Given the description of an element on the screen output the (x, y) to click on. 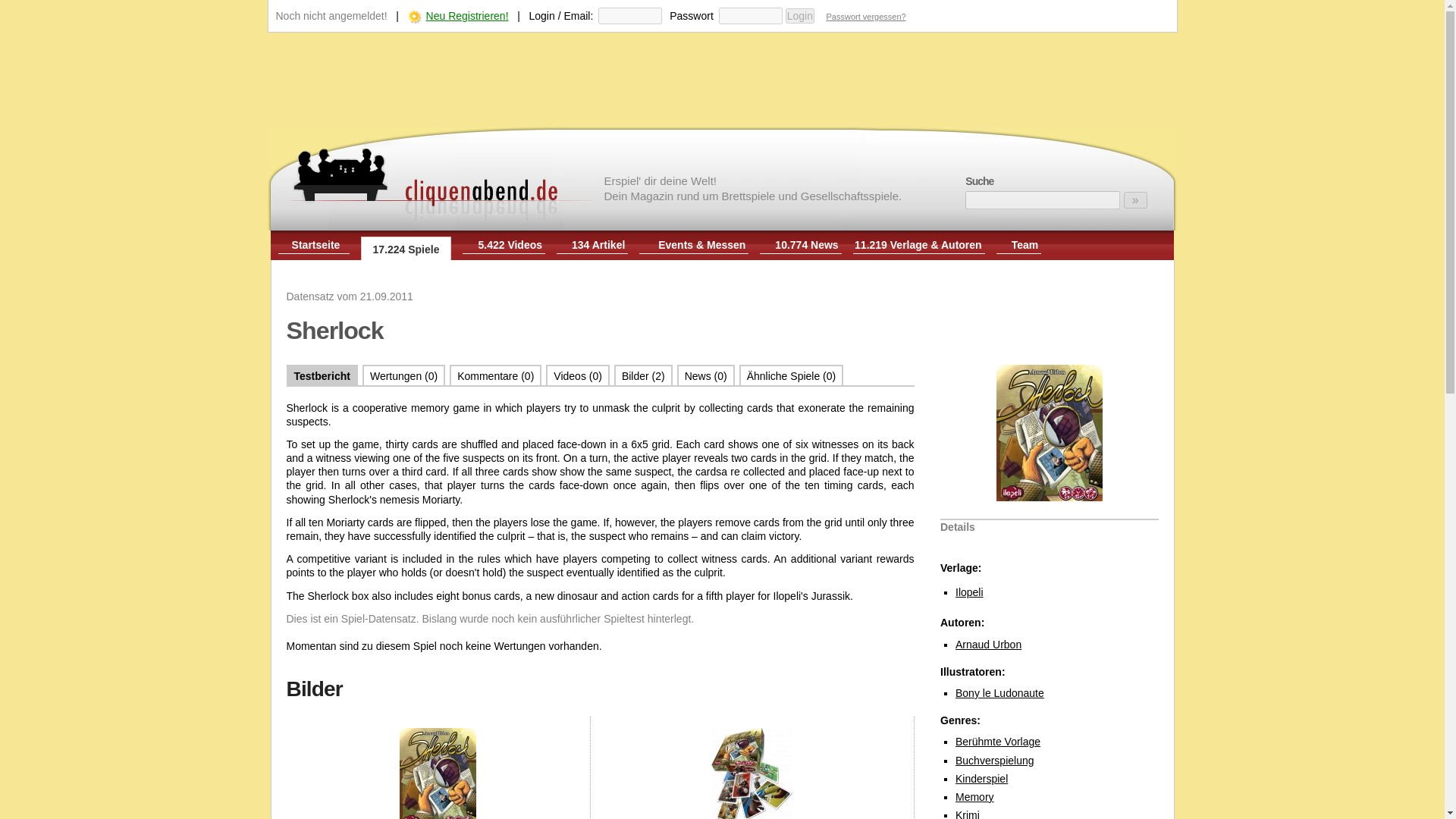
Arnaud Urbon (988, 644)
134 Artikel (598, 244)
Startseite (316, 244)
10.774 News (806, 244)
Buchverspielung (994, 760)
5.422 Videos (509, 244)
Krimi (967, 814)
Neu Registrieren! (467, 15)
Ilopeli (969, 592)
Kinderspiel (981, 778)
